Given the description of an element on the screen output the (x, y) to click on. 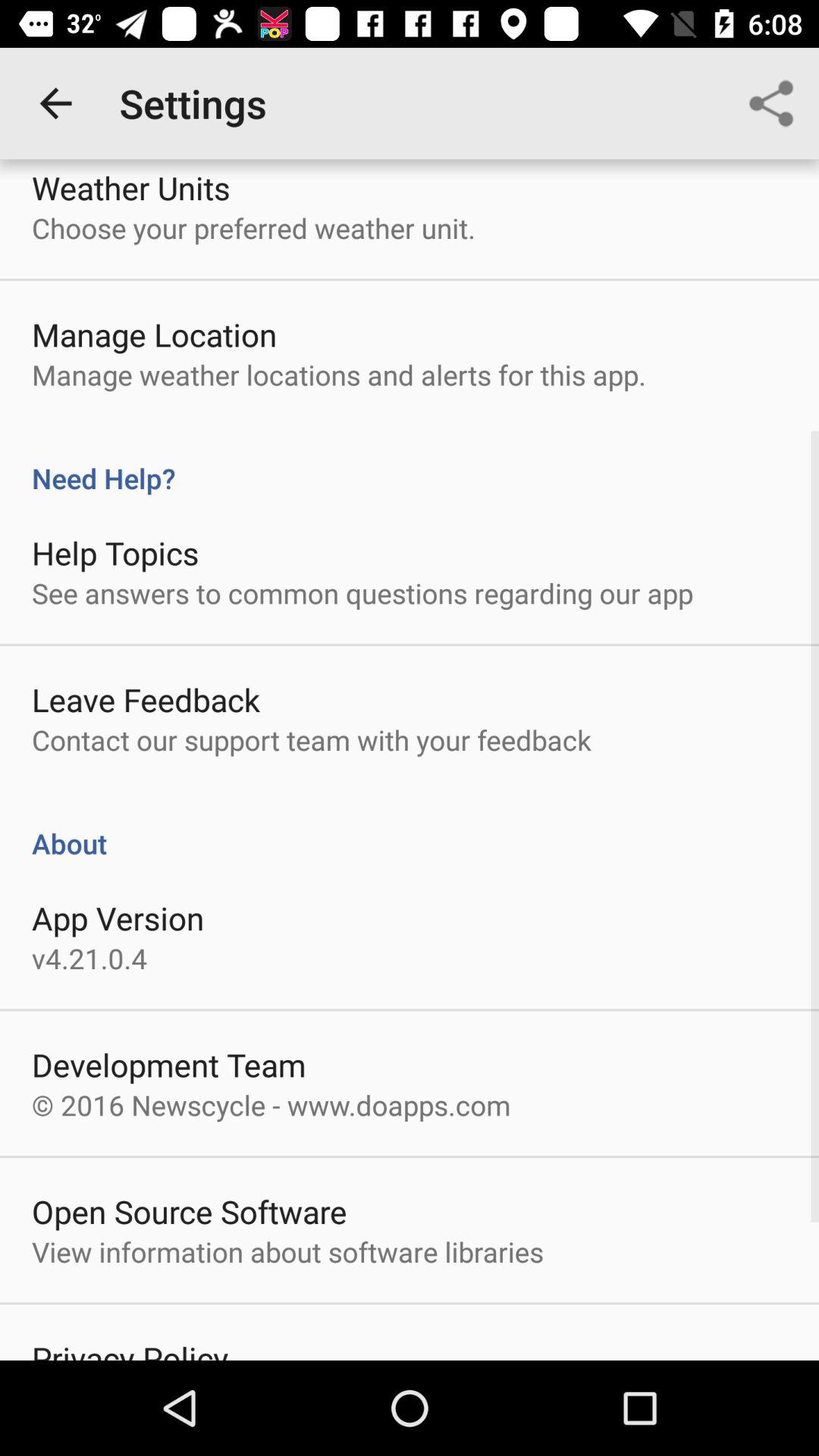
click the need help? (409, 462)
